Given the description of an element on the screen output the (x, y) to click on. 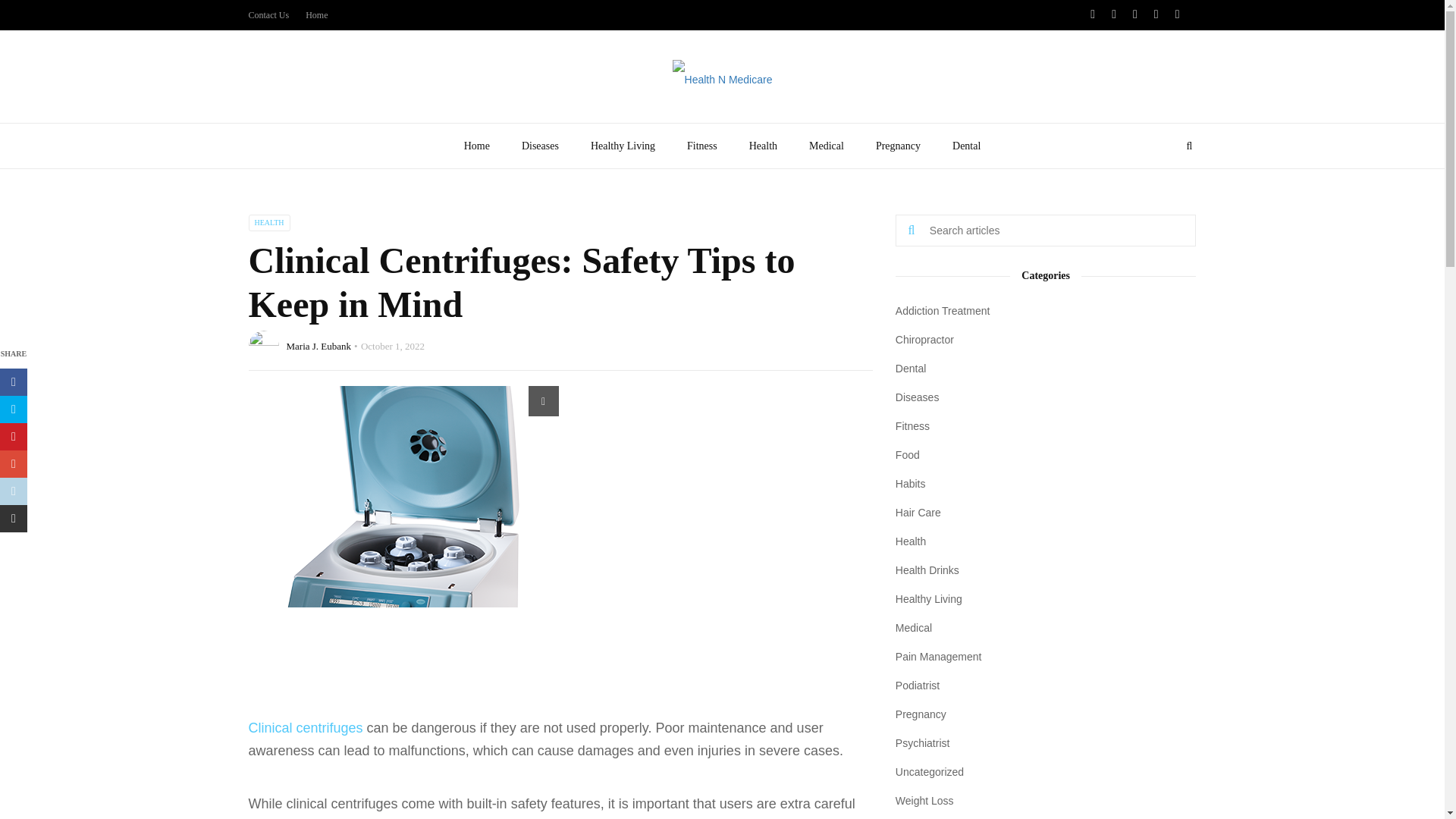
Home (476, 145)
Health (763, 145)
Maria J. Eubank (319, 345)
Medical (826, 145)
Clinical centrifuges (305, 727)
Healthy Living (623, 145)
HEALTH (268, 222)
Dental (965, 145)
Diseases (540, 145)
Fitness (702, 145)
